Given the description of an element on the screen output the (x, y) to click on. 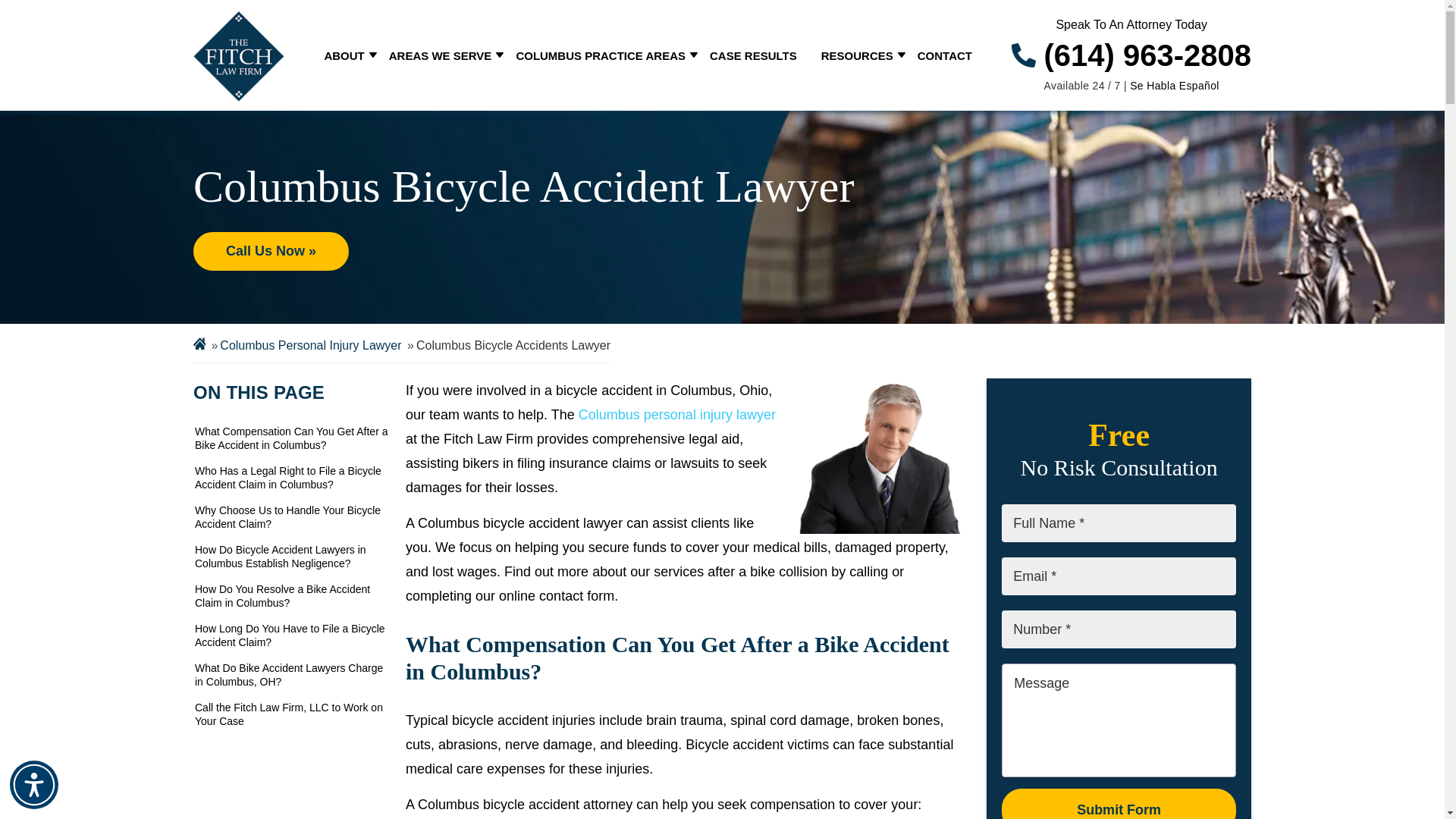
Call the Fitch Law Firm, LLC to Work on Your Case (291, 713)
CASE RESULTS (753, 55)
Accessibility Menu (34, 784)
What Do Bike Accident Lawyers Charge in Columbus, OH? (291, 674)
CONTACT (944, 55)
How Long Do You Have to File a Bicycle Accident Claim? (291, 635)
ABOUT (343, 55)
RESOURCES (857, 55)
How Do You Resolve a Bike Accident Claim in Columbus? (291, 595)
Submit Form (1118, 803)
AREAS WE SERVE (440, 55)
Why Choose Us to Handle Your Bicycle Accident Claim? (291, 517)
